Given the description of an element on the screen output the (x, y) to click on. 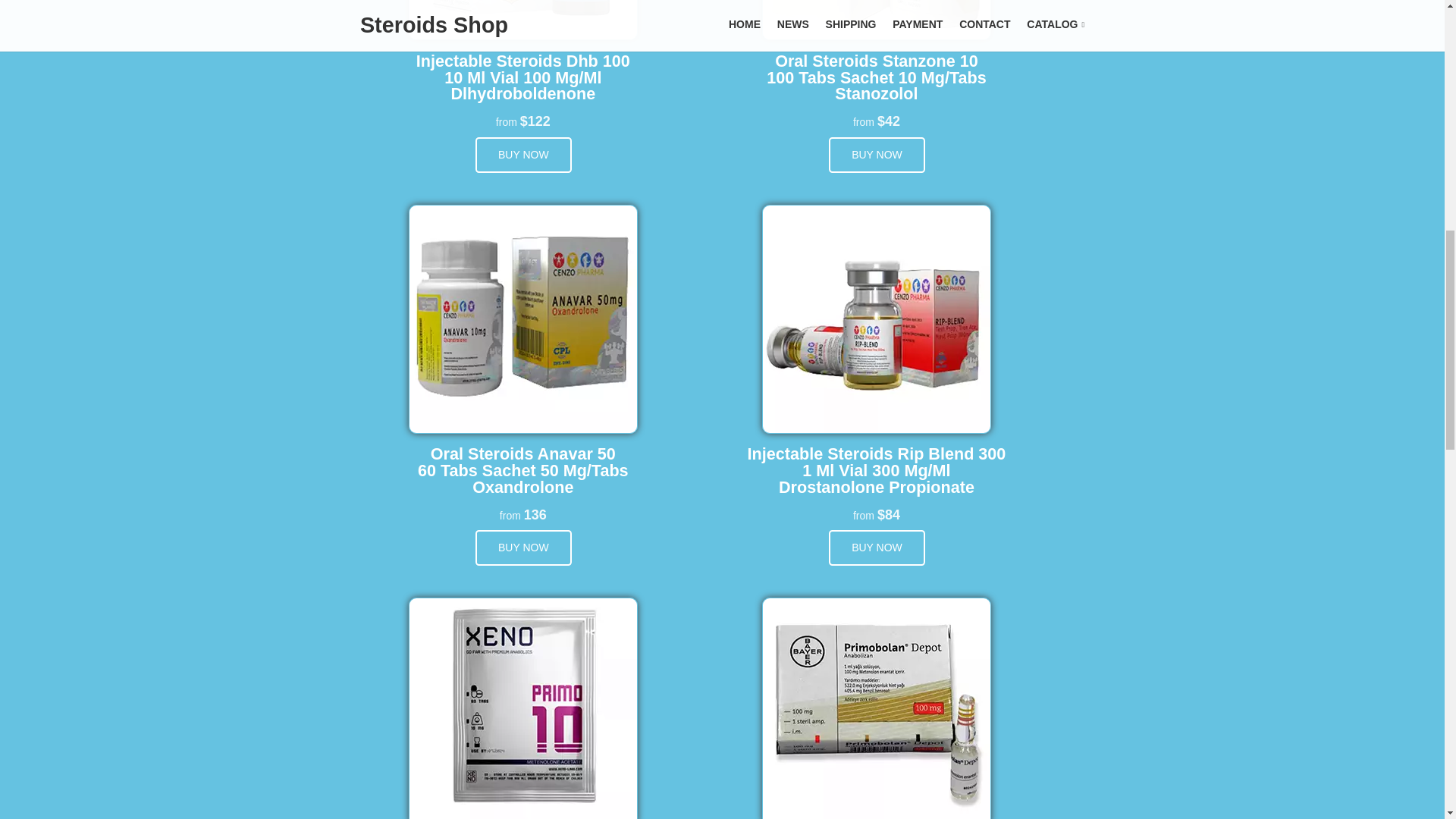
BUY NOW (524, 547)
BUY NOW (876, 154)
BUY NOW (876, 547)
BUY NOW (524, 154)
